Given the description of an element on the screen output the (x, y) to click on. 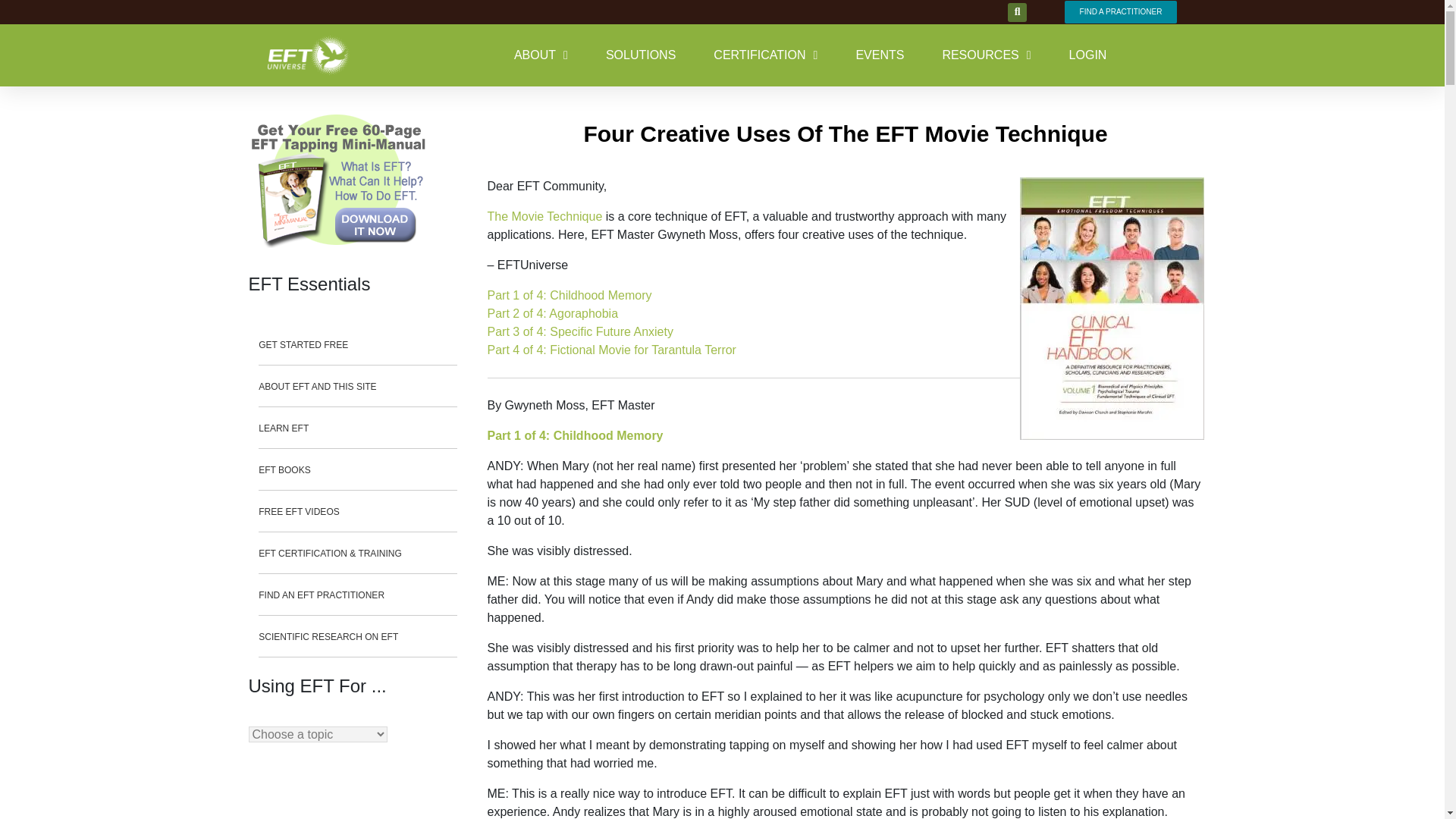
FIND A PRACTITIONER (1120, 11)
CERTIFICATION (764, 54)
LOGIN (1087, 54)
ABOUT (540, 54)
RESOURCES (986, 54)
EVENTS (880, 54)
SOLUTIONS (640, 54)
